Given the description of an element on the screen output the (x, y) to click on. 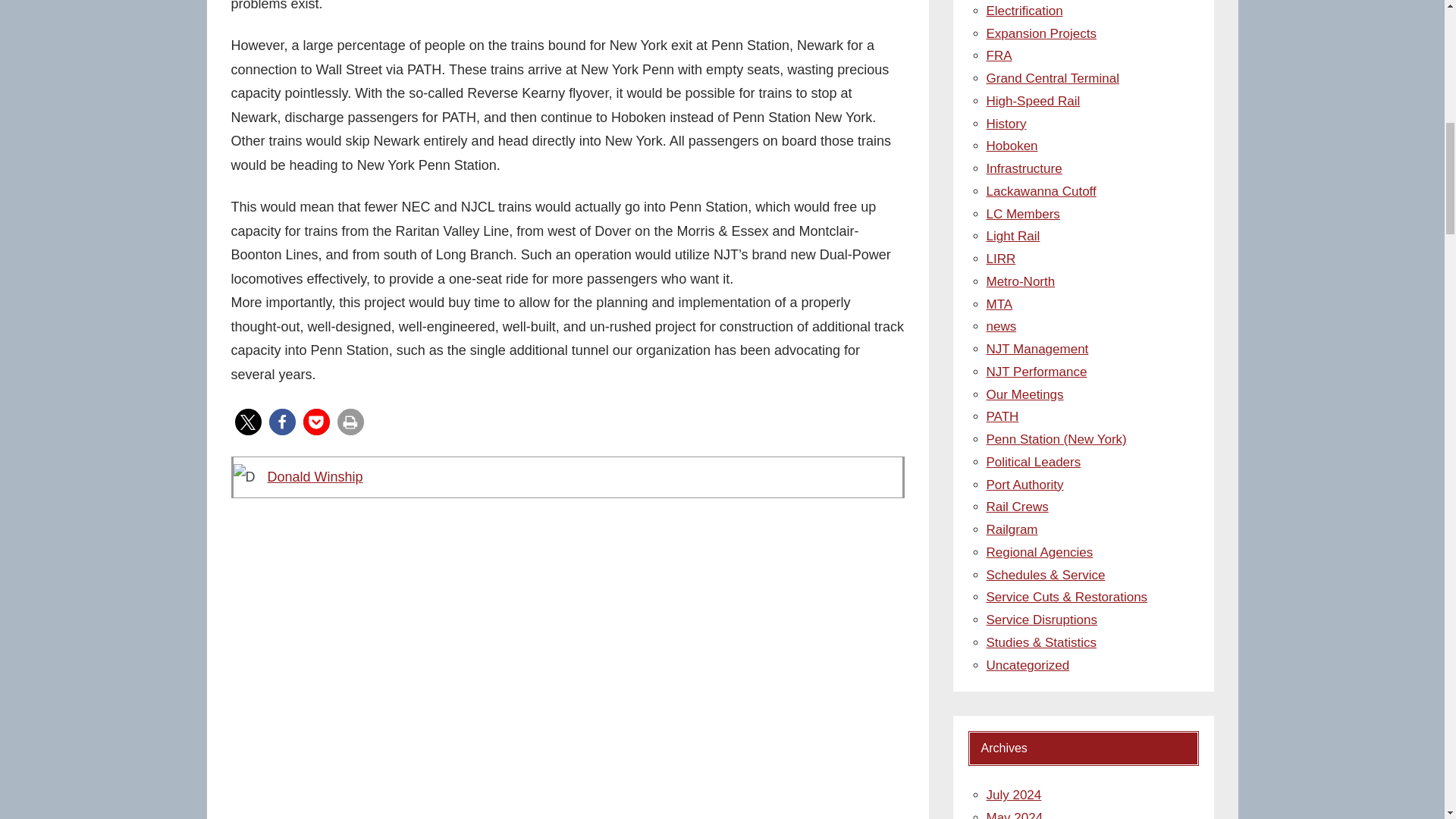
Donald Winship (314, 476)
